Given the description of an element on the screen output the (x, y) to click on. 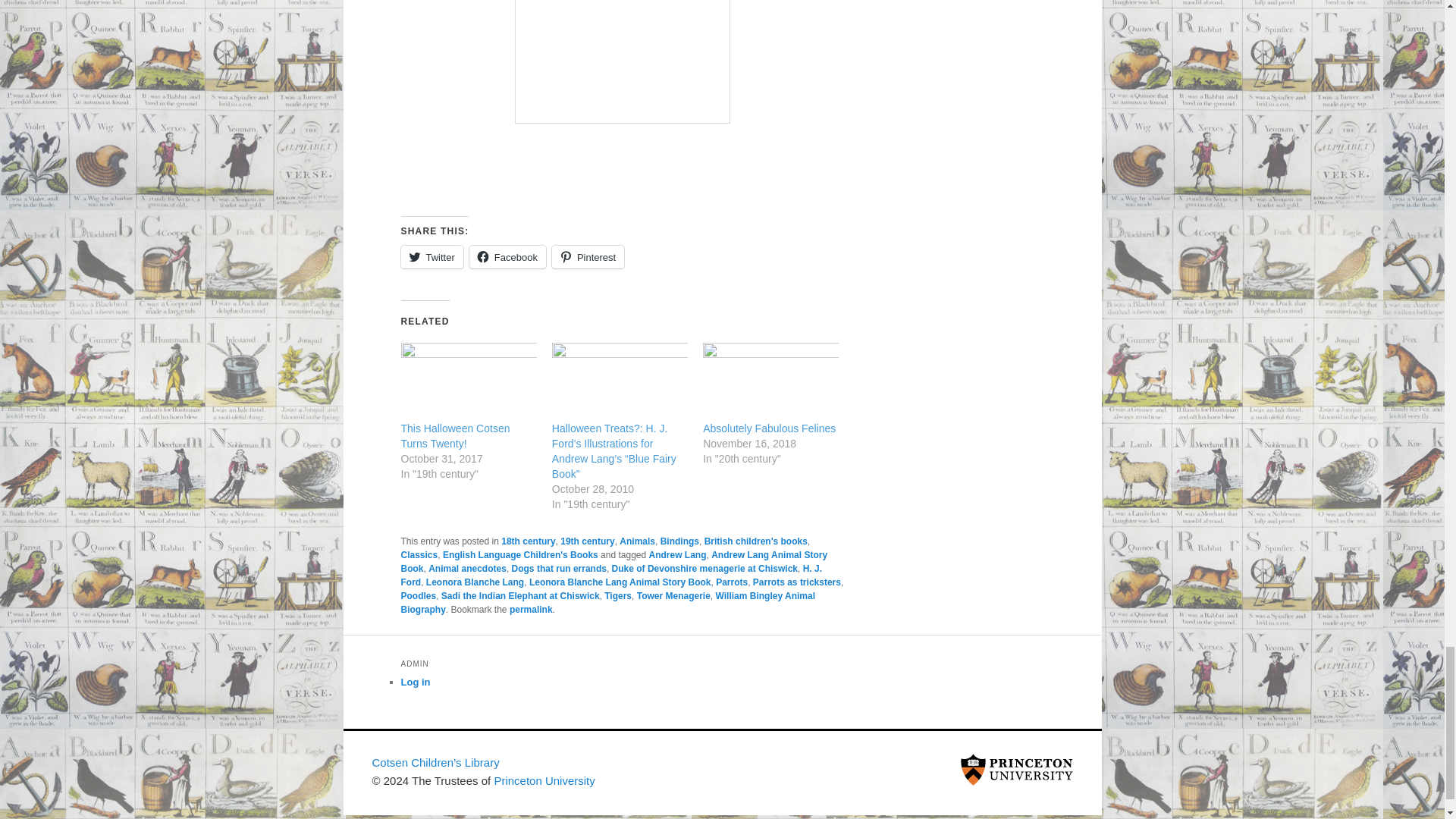
Click to share on Pinterest (587, 256)
Animal anecdotes (467, 568)
This Halloween Cotsen Turns Twenty! (467, 381)
Absolutely Fabulous Felines (769, 428)
Absolutely Fabulous Felines (769, 428)
19th century (587, 541)
Dogs that run errands (559, 568)
Bindings (679, 541)
English Language Children's Books (520, 554)
H. J. Ford (611, 575)
Click to share on Facebook (507, 256)
Duke of Devonshire menagerie at Chiswick (704, 568)
Leonora Blanche Lang Animal Story Book (620, 582)
Click to share on Twitter (431, 256)
This Halloween Cotsen Turns Twenty! (454, 435)
